Given the description of an element on the screen output the (x, y) to click on. 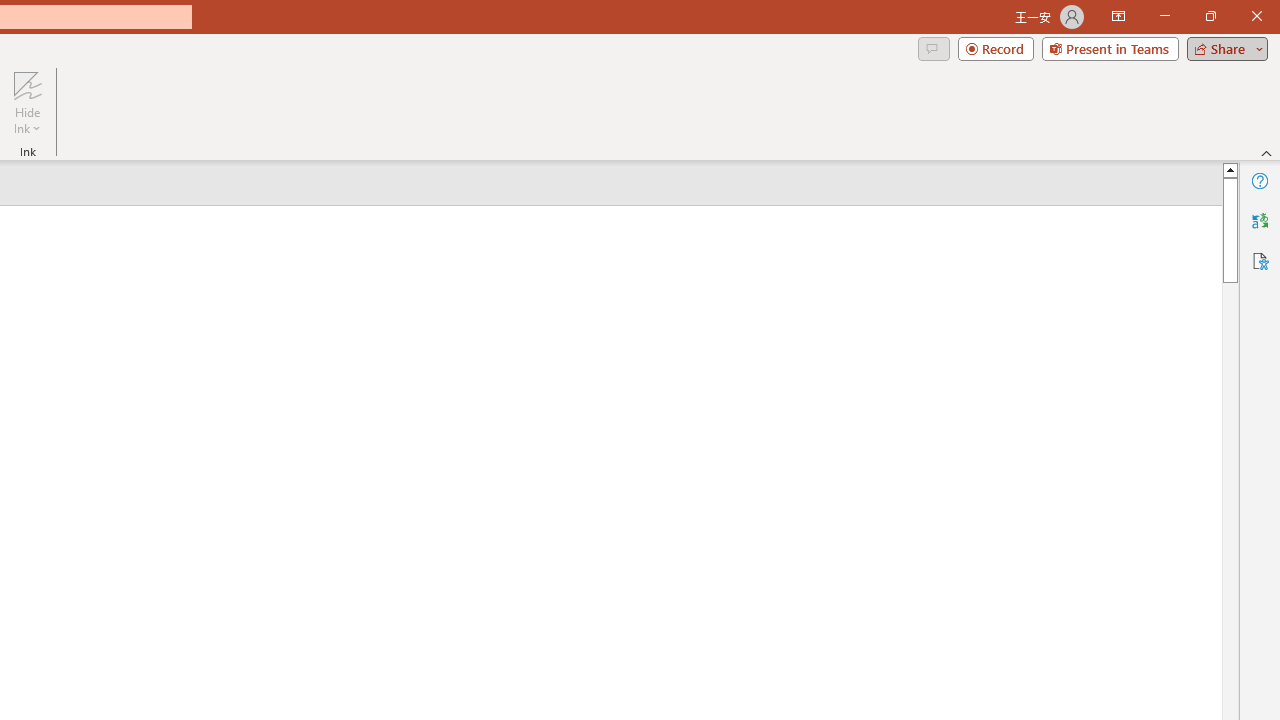
Hide Ink (27, 84)
Hide Ink (27, 102)
